Given the description of an element on the screen output the (x, y) to click on. 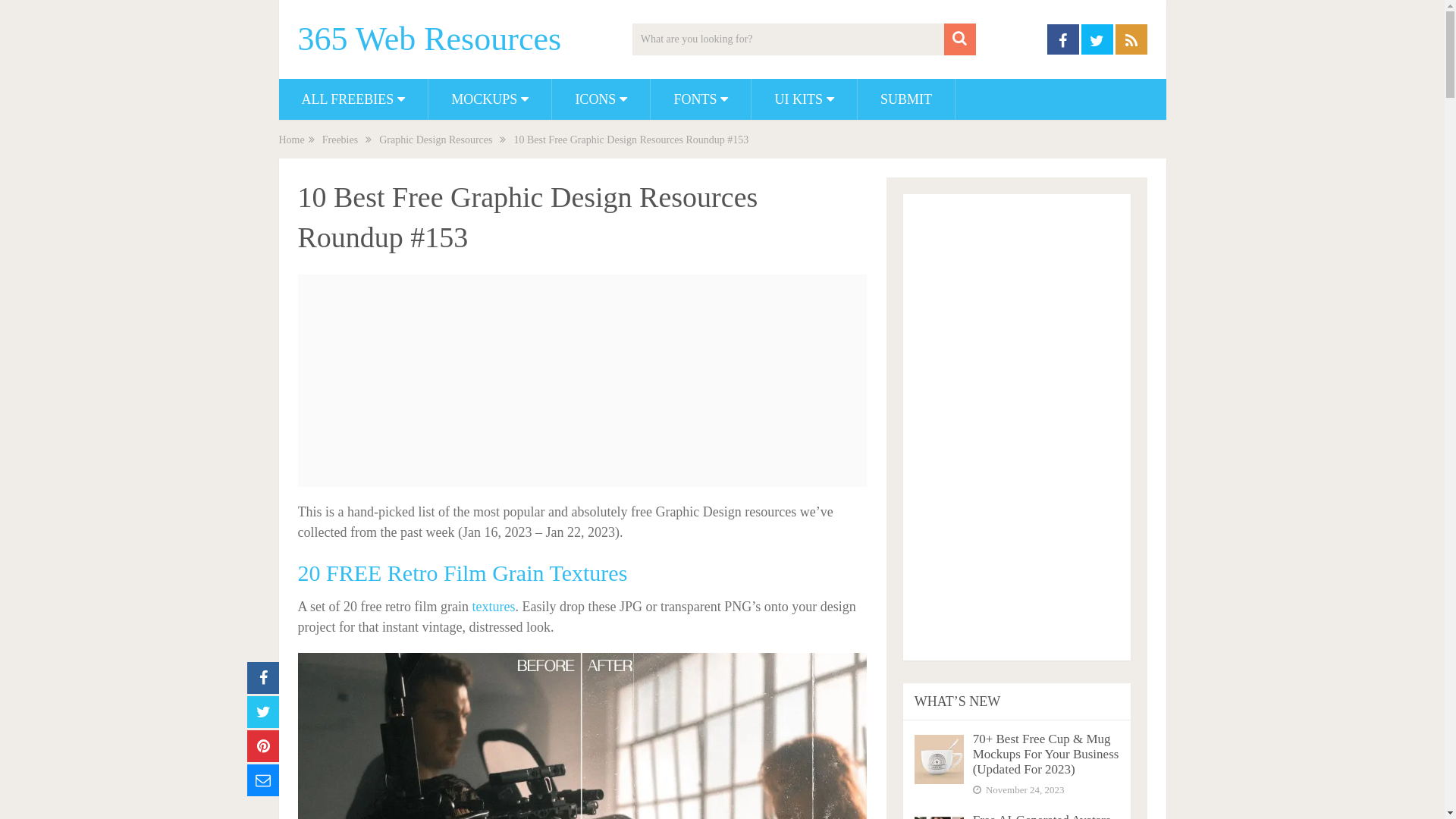
SUBMIT Element type: text (905, 98)
Freebies Element type: text (339, 139)
ICONS Element type: text (600, 98)
textures Element type: text (492, 606)
ALL FREEBIES Element type: text (353, 98)
UI KITS Element type: text (803, 98)
20 FREE Retro Film Grain Textures Element type: text (462, 572)
Advertisement Element type: hover (582, 380)
MOCKUPS Element type: text (489, 98)
FONTS Element type: text (700, 98)
Graphic Design Resources Element type: text (435, 139)
365 Web Resources Element type: text (429, 39)
Home Element type: text (291, 139)
Advertisement Element type: hover (1016, 421)
